Given the description of an element on the screen output the (x, y) to click on. 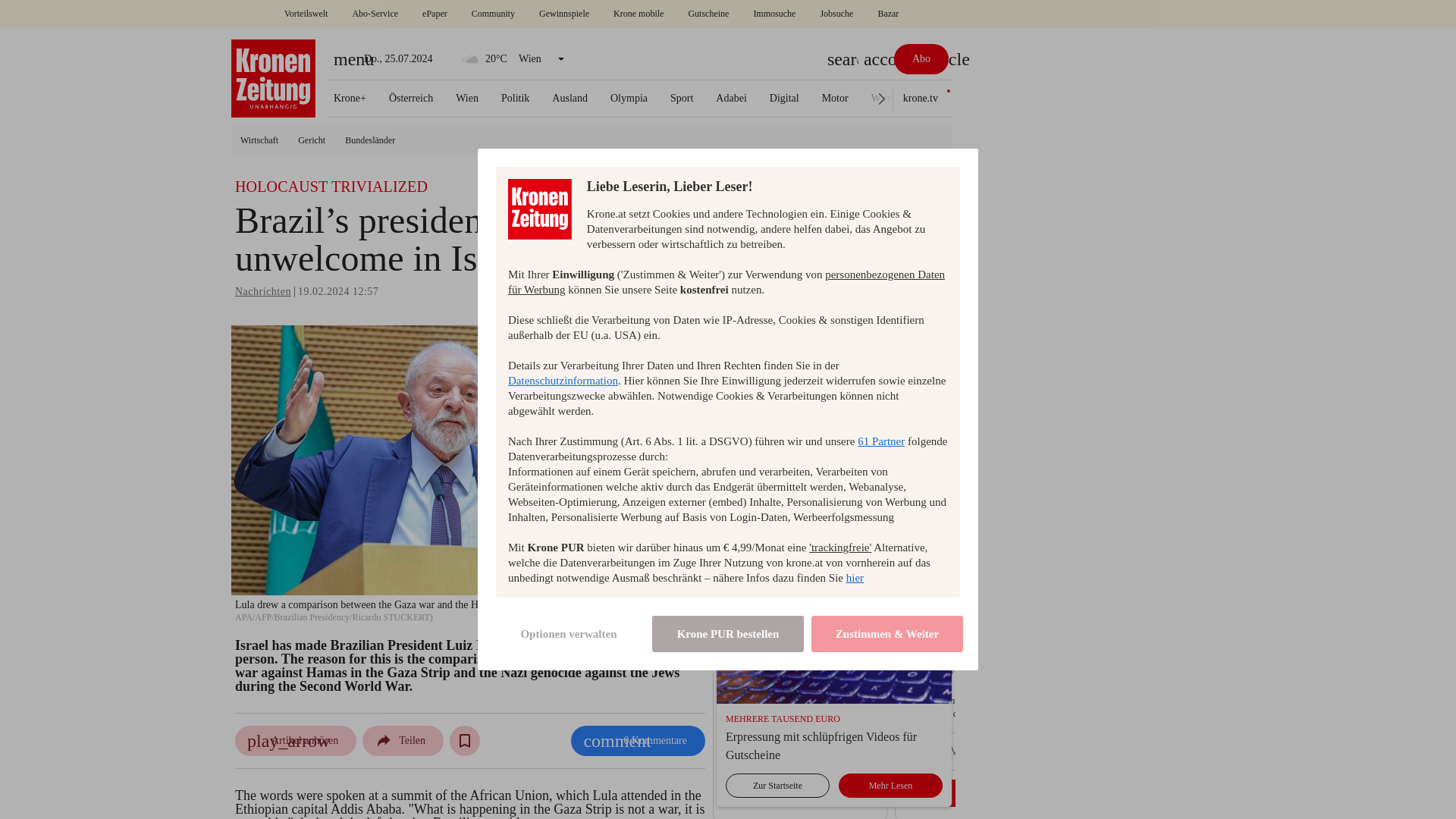
Krone PUR bestellen (727, 633)
Jobsuche (835, 13)
Abo-Service (374, 13)
Vorteilswelt (306, 13)
Gewinnspiele (563, 13)
Immosuche (774, 13)
ePaper (435, 13)
Bazar (887, 13)
61 Partner (880, 440)
Gutscheine (708, 13)
Datenschutzinformation (562, 380)
krone.at Logo (273, 78)
Krone mobile (638, 13)
Optionen verwalten (569, 633)
Community (493, 13)
